Given the description of an element on the screen output the (x, y) to click on. 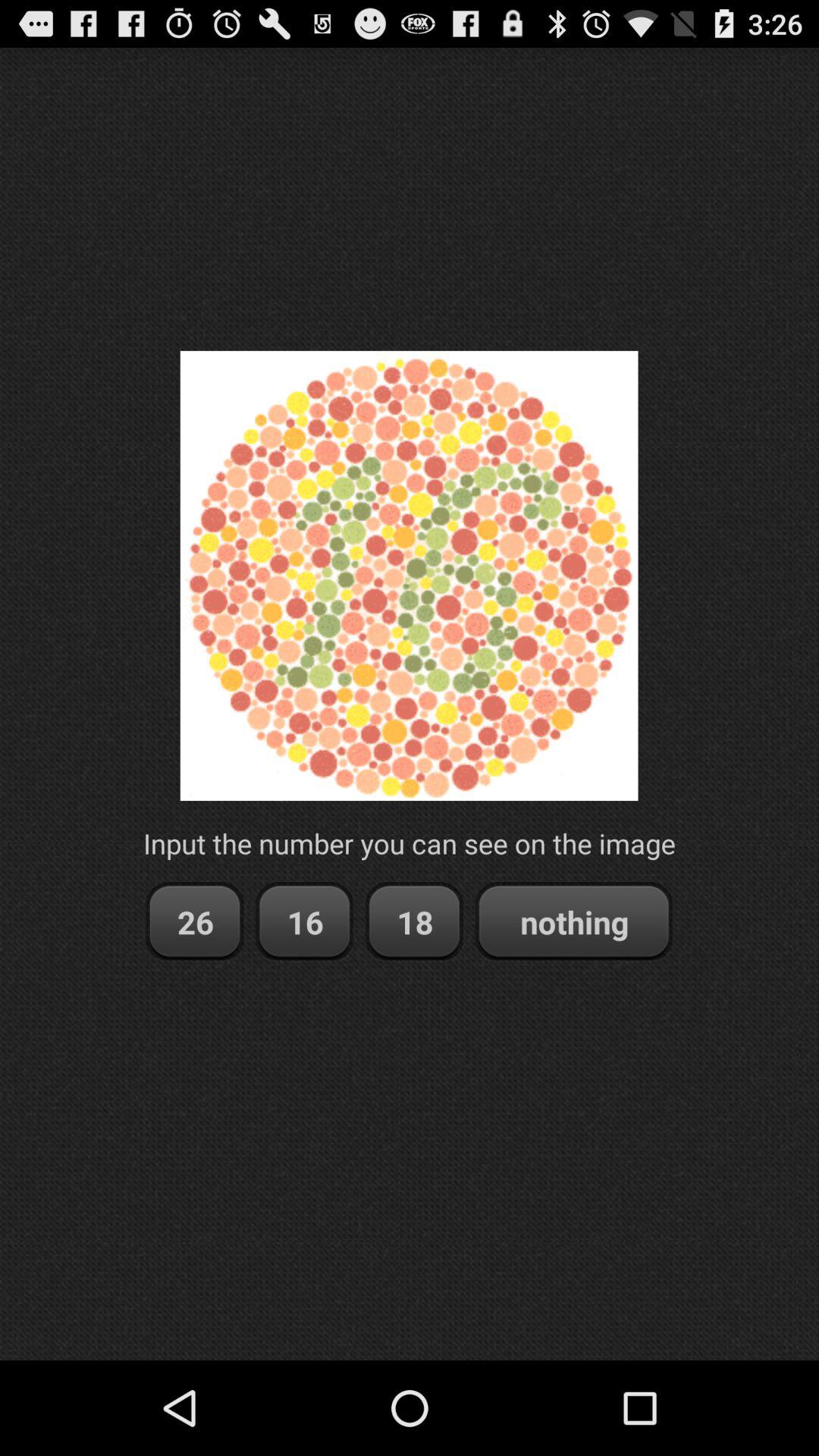
press the item to the left of the nothing item (414, 921)
